Given the description of an element on the screen output the (x, y) to click on. 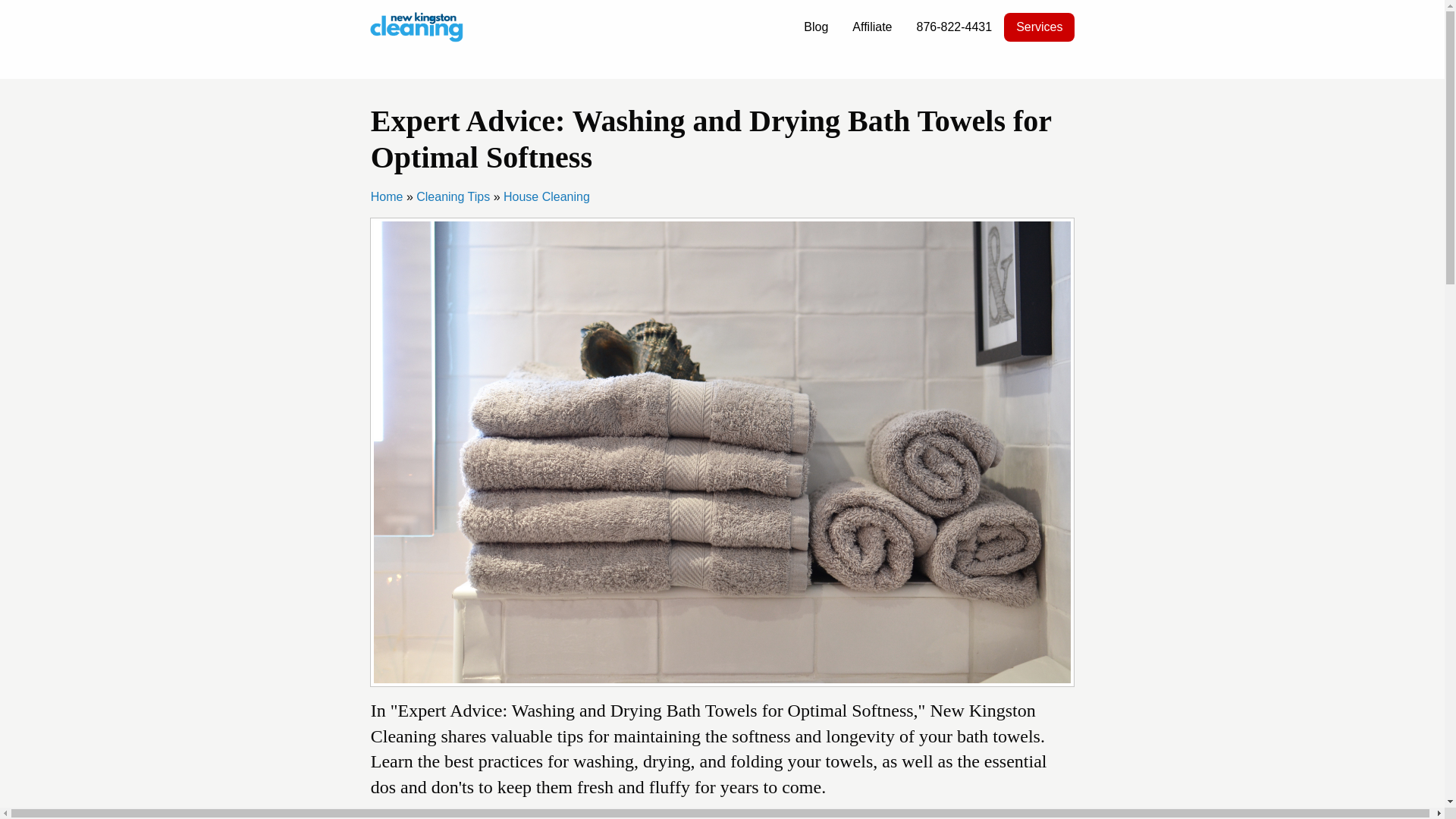
Blog (816, 27)
Affiliate (872, 27)
876-822-4431 (954, 27)
House Cleaning (546, 196)
Home (387, 196)
New Kingston Cleaning (416, 25)
Services (1039, 27)
Cleaning Tips (452, 196)
